Given the description of an element on the screen output the (x, y) to click on. 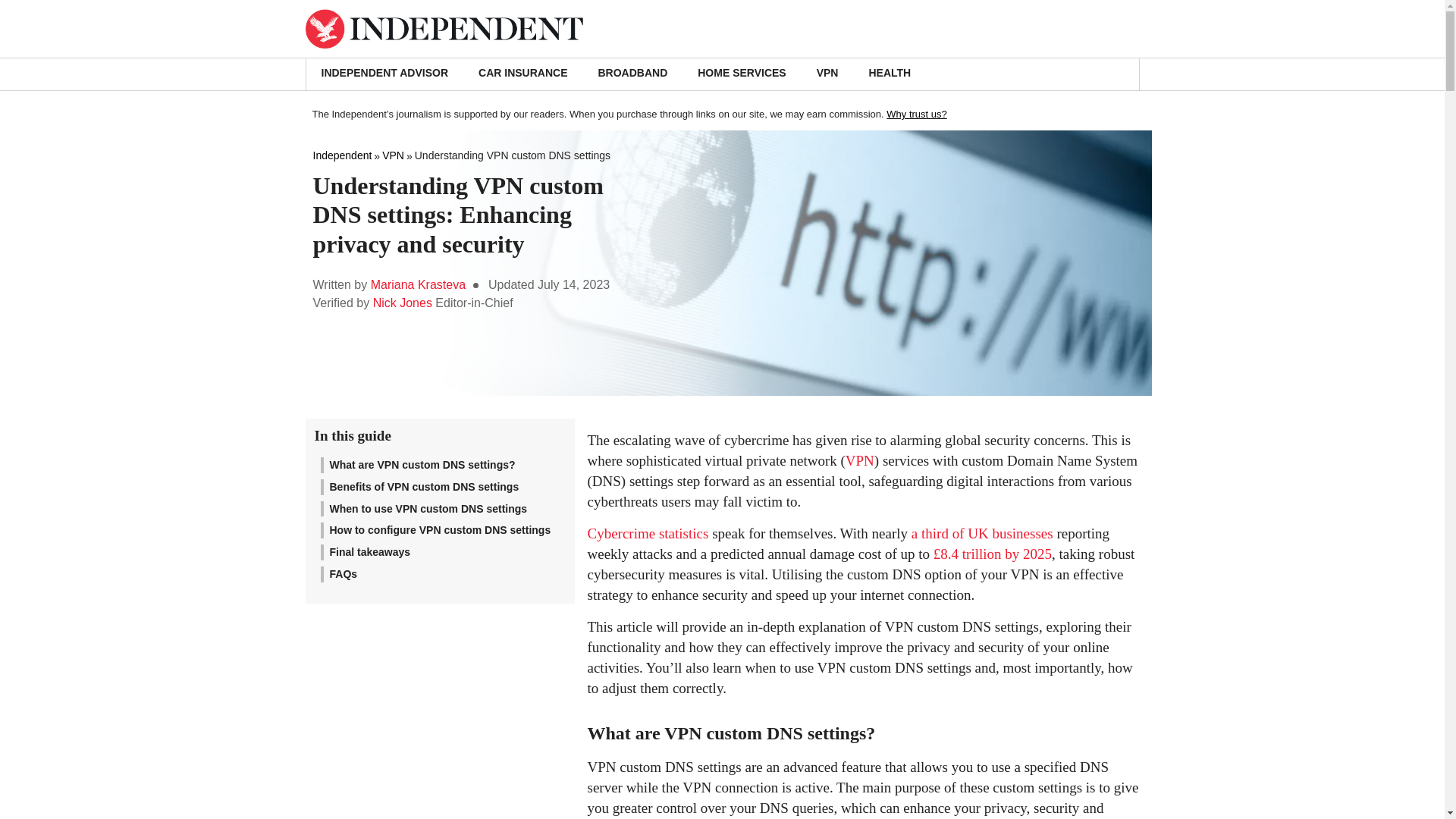
INDEPENDENT ADVISOR (384, 74)
